Given the description of an element on the screen output the (x, y) to click on. 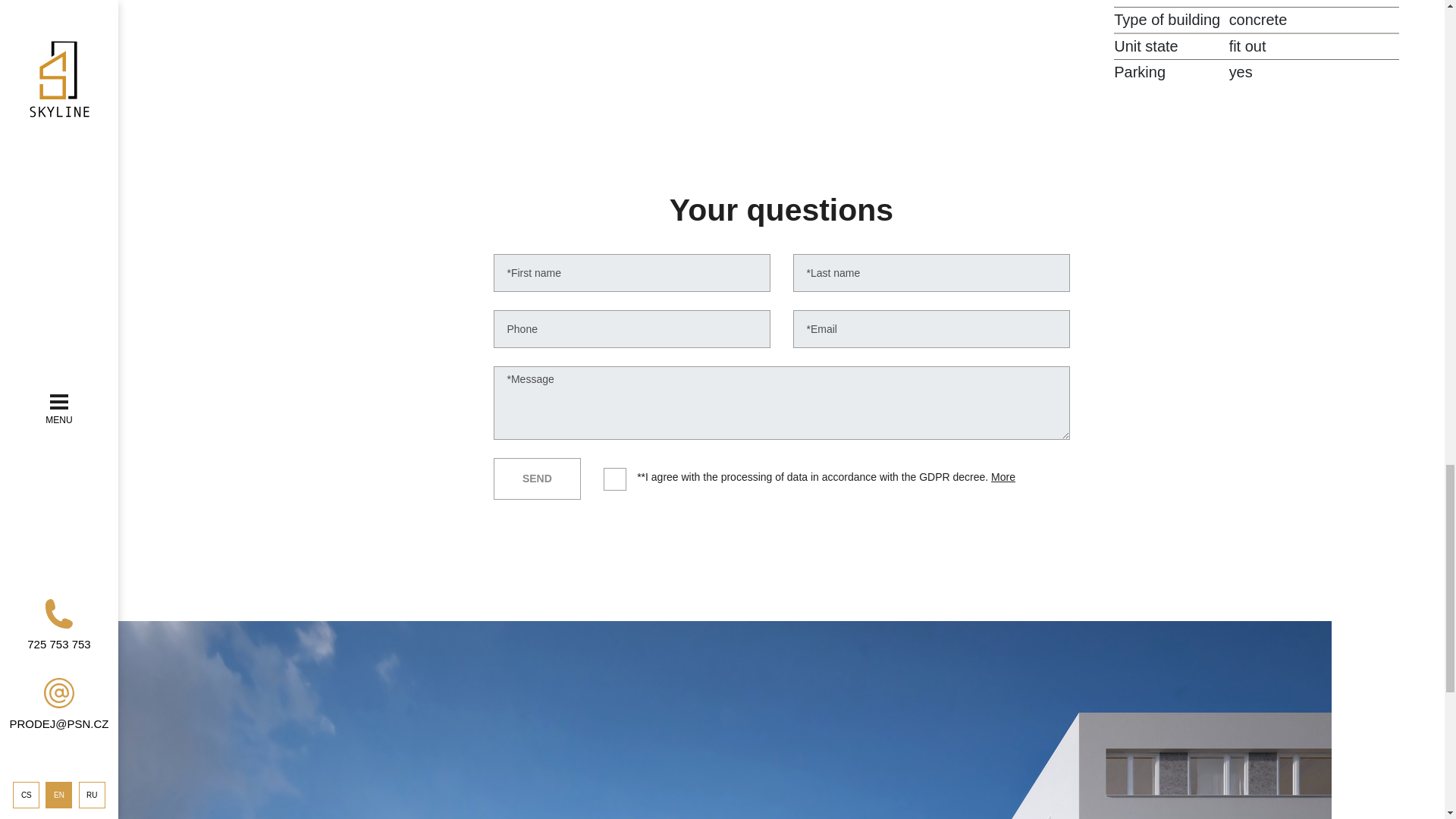
More (1002, 476)
Send (536, 478)
Send (536, 478)
